Given the description of an element on the screen output the (x, y) to click on. 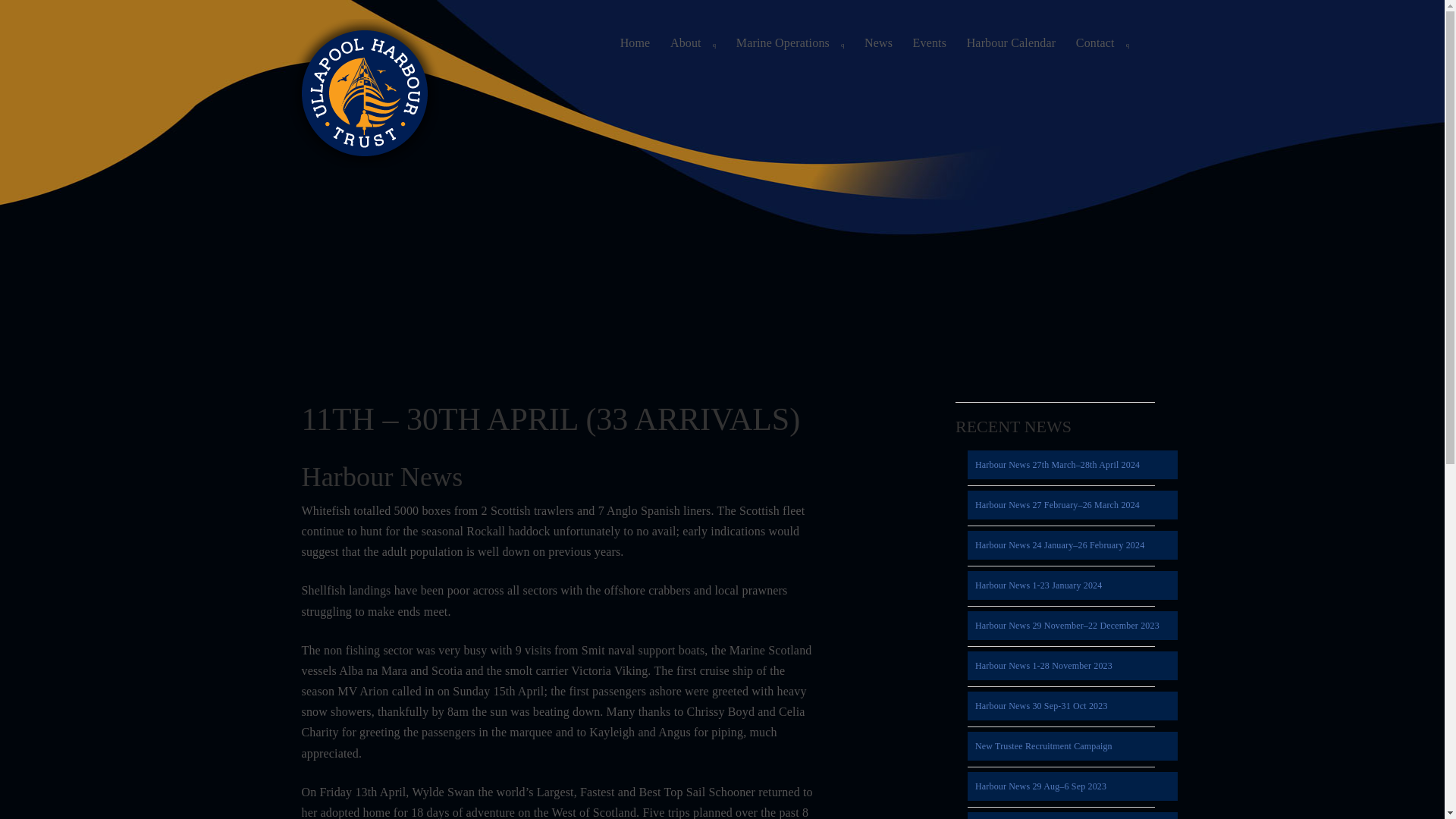
Permanent link to New Trustee Recruitment Campaign (1072, 746)
Permanent link to Harbour News 1-23 January 2024 (1072, 584)
About (693, 43)
Home (634, 43)
Harbour News 30 Sep-31 Oct 2023 (1072, 705)
Harbour Calendar (1010, 43)
New Trustee Recruitment Campaign (1072, 746)
Permanent link to Harbour News 1-28 November 2023 (1072, 665)
News (878, 43)
Events (929, 43)
Harbour News 1-23 January 2024 (1072, 584)
Contact (1102, 43)
Harbour News 1-28 November 2023 (1072, 665)
Permanent link to Harbour News 30 Sep-31 Oct 2023 (1072, 705)
Marine Operations (790, 43)
